Given the description of an element on the screen output the (x, y) to click on. 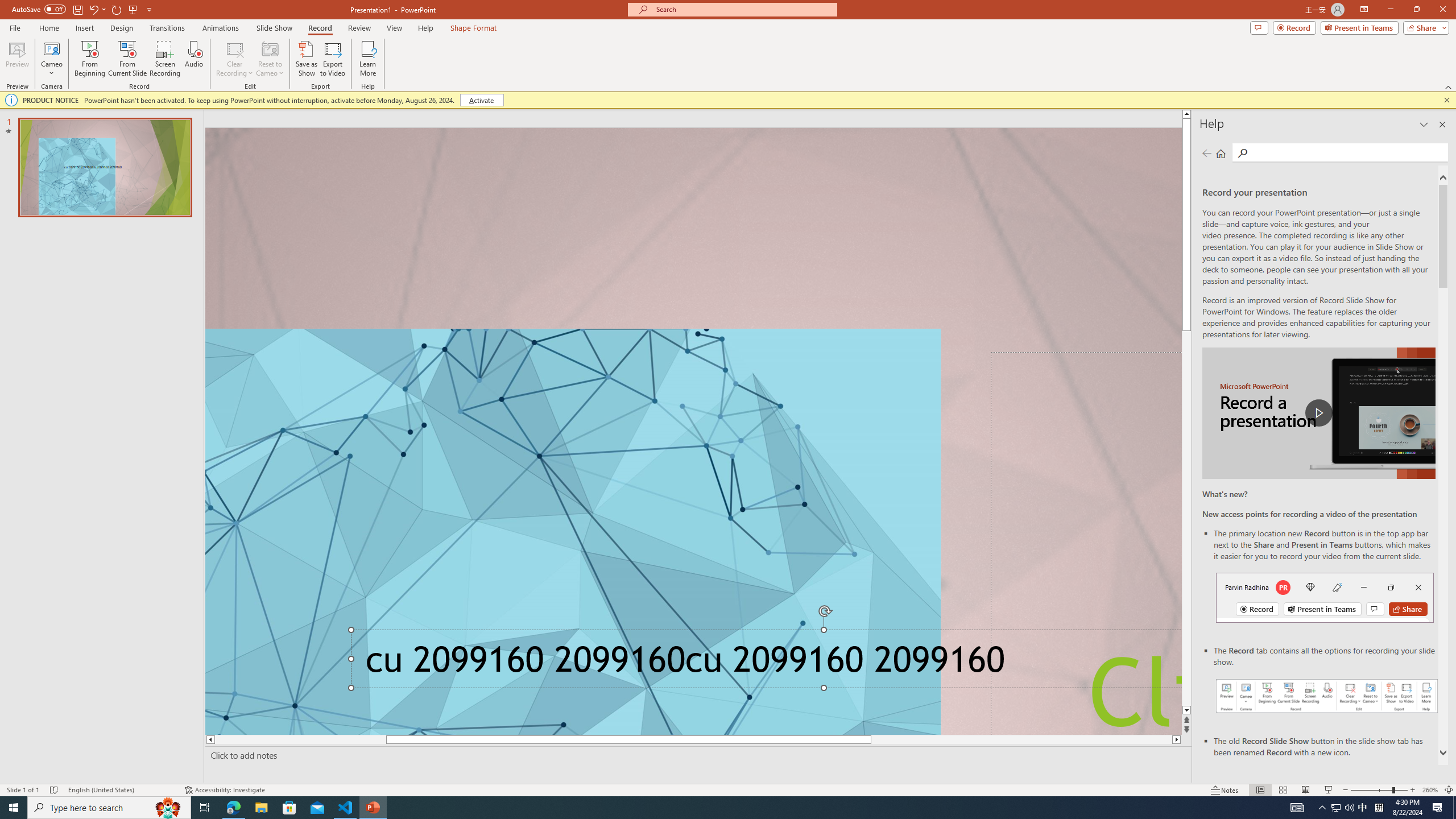
An abstract genetic concept (693, 430)
